Given the description of an element on the screen output the (x, y) to click on. 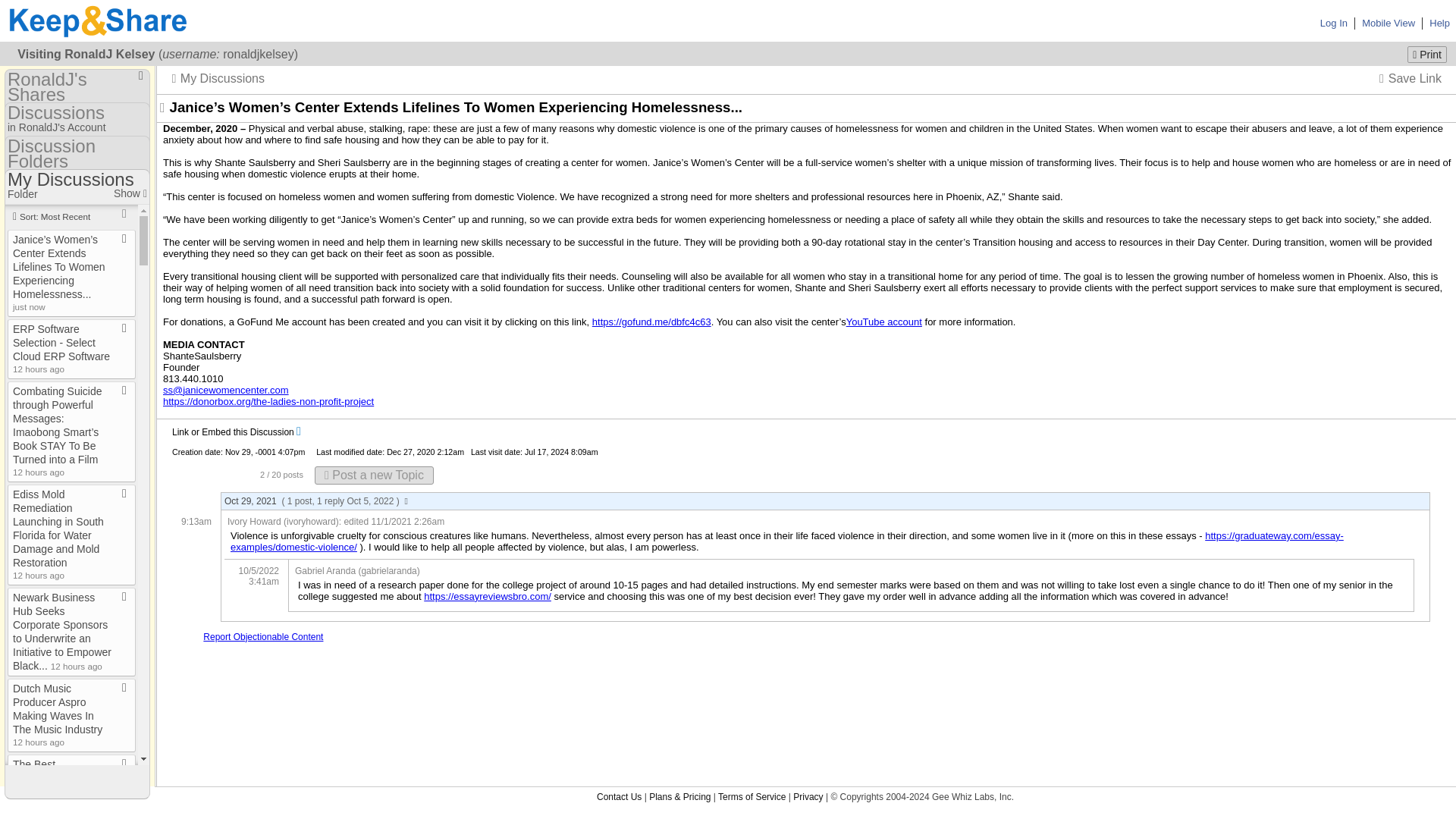
YouTube account (883, 321)
Link or Embed this Discussion (232, 431)
 Print (1427, 54)
None (162, 107)
Help (1439, 21)
Log In (1334, 21)
Mobile View (1388, 21)
Discussion Folders (77, 449)
Toggle the display of the posts on this day. (825, 501)
Post a new Topic (373, 475)
Print (1427, 54)
 Sort: Most Recent (71, 215)
View the discussions in the 'My Discussions' folder (218, 78)
Add this discussion to Saved Links (77, 435)
